Given the description of an element on the screen output the (x, y) to click on. 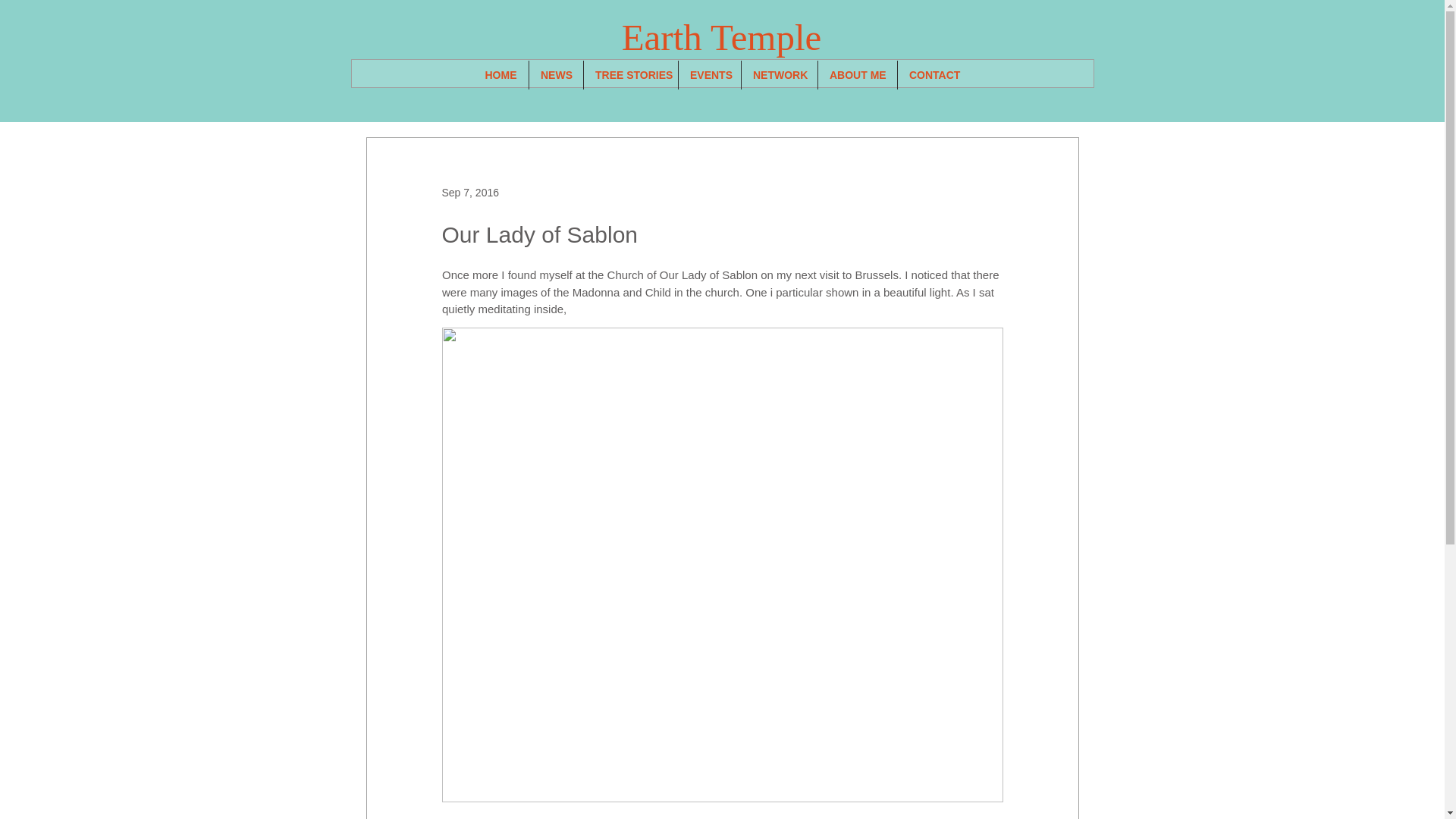
HOME (500, 74)
ABOUT ME (857, 74)
CONTACT (933, 74)
EVENTS (709, 74)
NETWORK (778, 74)
NEWS (556, 74)
Earth Temple (721, 37)
Sep 7, 2016 (470, 192)
TREE STORIES (630, 74)
